Given the description of an element on the screen output the (x, y) to click on. 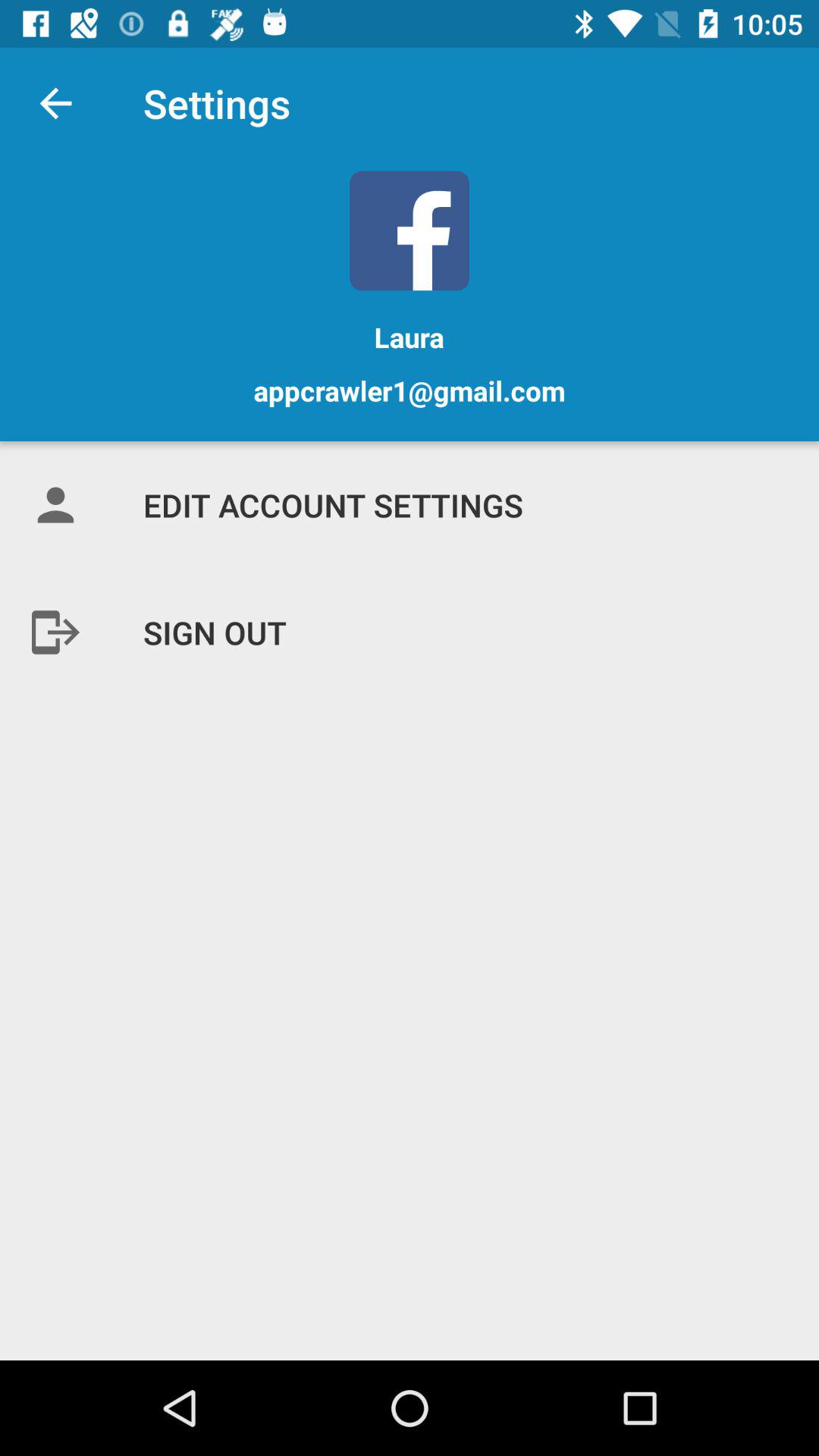
open item next to the settings (55, 103)
